Given the description of an element on the screen output the (x, y) to click on. 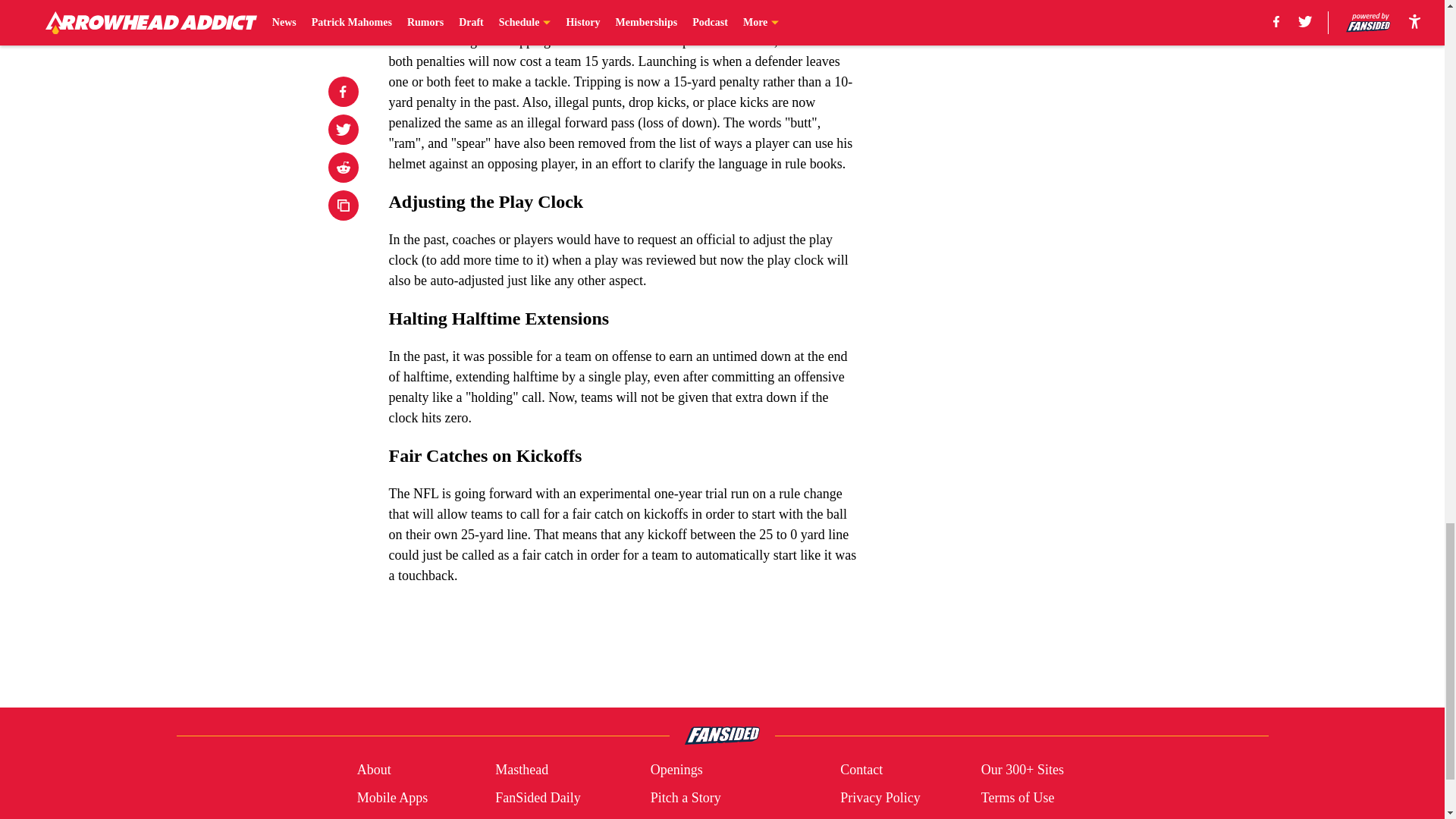
Openings (676, 770)
Terms of Use (1017, 797)
Privacy Policy (880, 797)
Masthead (521, 770)
Mobile Apps (392, 797)
About (373, 770)
Cookie Policy (395, 817)
Pitch a Story (685, 797)
Legal Disclaimer (542, 817)
FanSided Daily (537, 797)
